Given the description of an element on the screen output the (x, y) to click on. 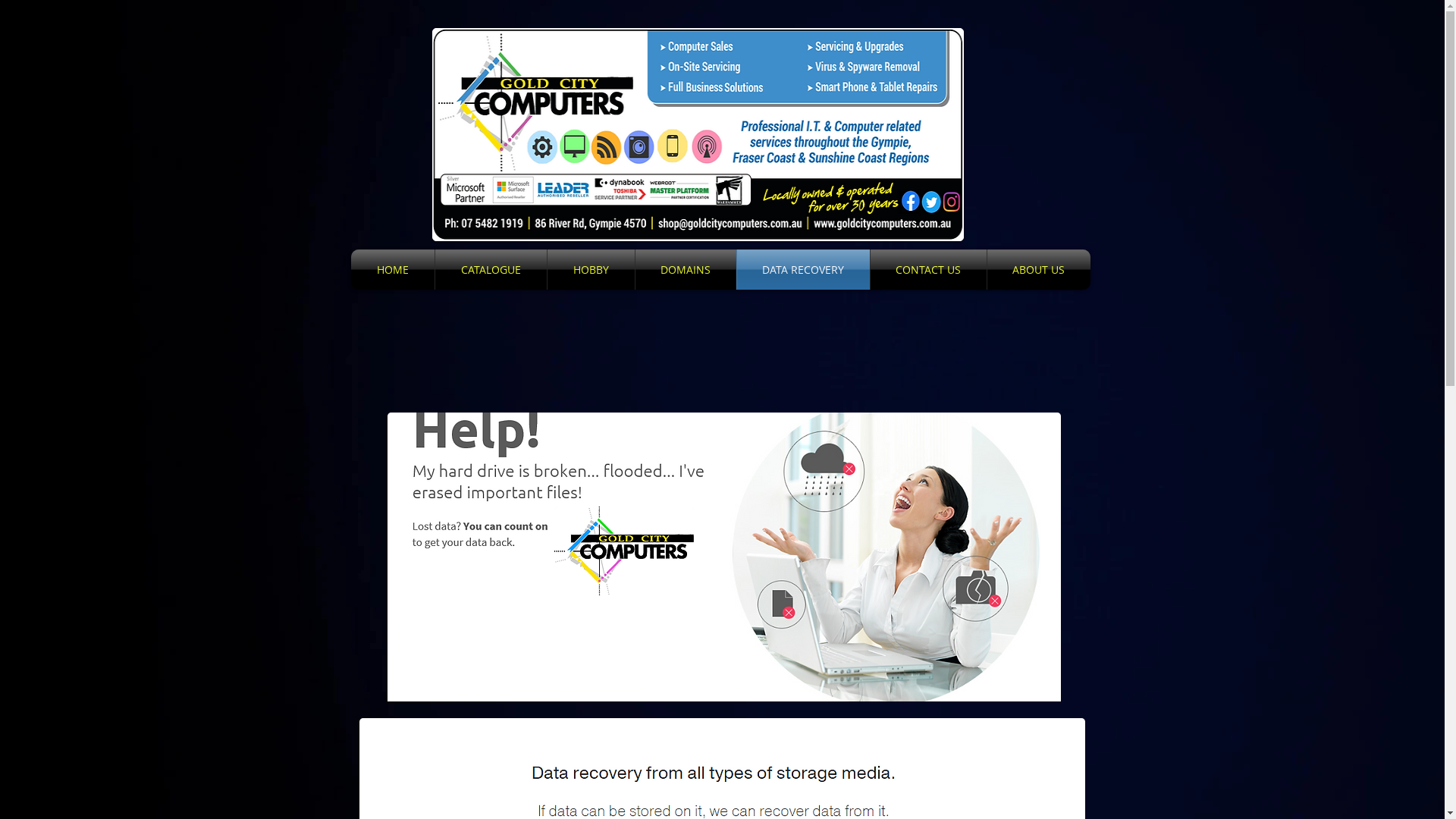
ABOUT US Element type: text (1038, 269)
HOME Element type: text (391, 269)
CATALOGUE Element type: text (490, 269)
HOBBY Element type: text (590, 269)
DOMAINS Element type: text (685, 269)
DATA RECOVERY Element type: text (803, 269)
CONTACT US Element type: text (928, 269)
1.5.png Element type: hover (723, 556)
